Given the description of an element on the screen output the (x, y) to click on. 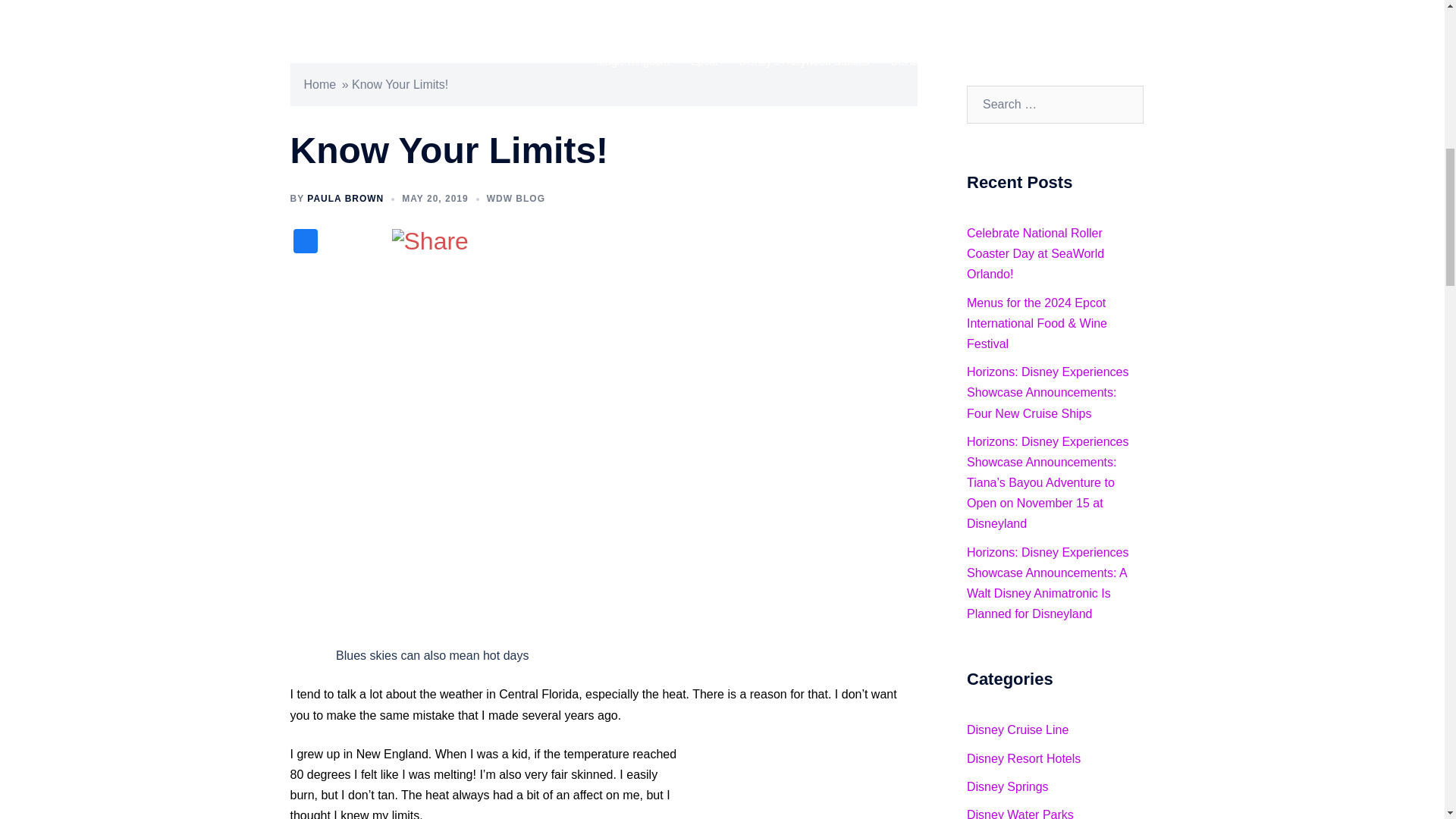
Facebook (304, 243)
Disney Resort Hotels (1023, 758)
Celebrate National Roller Coaster Day at SeaWorld Orlando! (1034, 253)
MAY 20, 2019 (434, 198)
PAULA BROWN (345, 198)
Advertisement (796, 781)
Facebook (304, 243)
Advertisement (433, 544)
